Given the description of an element on the screen output the (x, y) to click on. 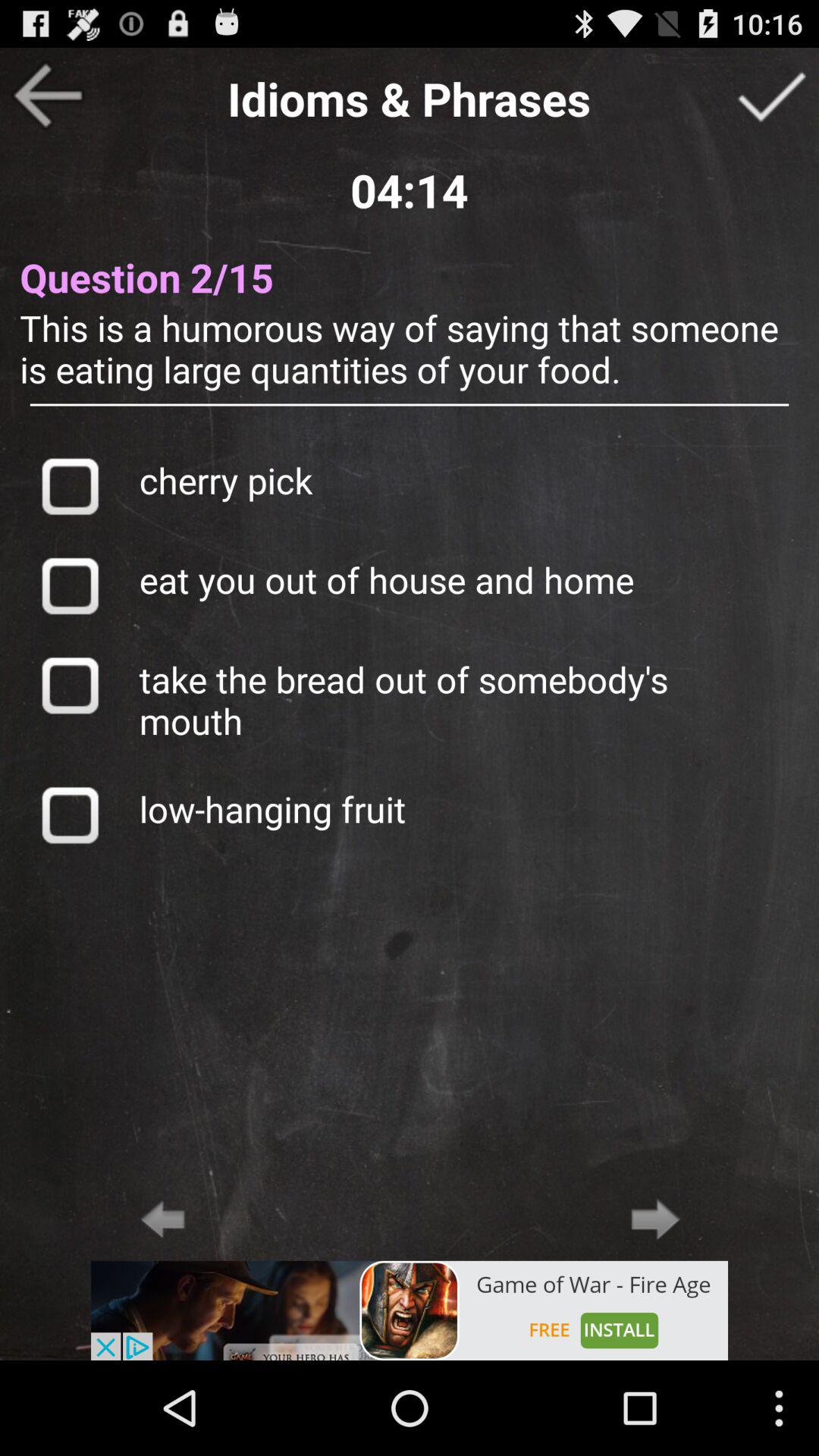
select this option (69, 585)
